Given the description of an element on the screen output the (x, y) to click on. 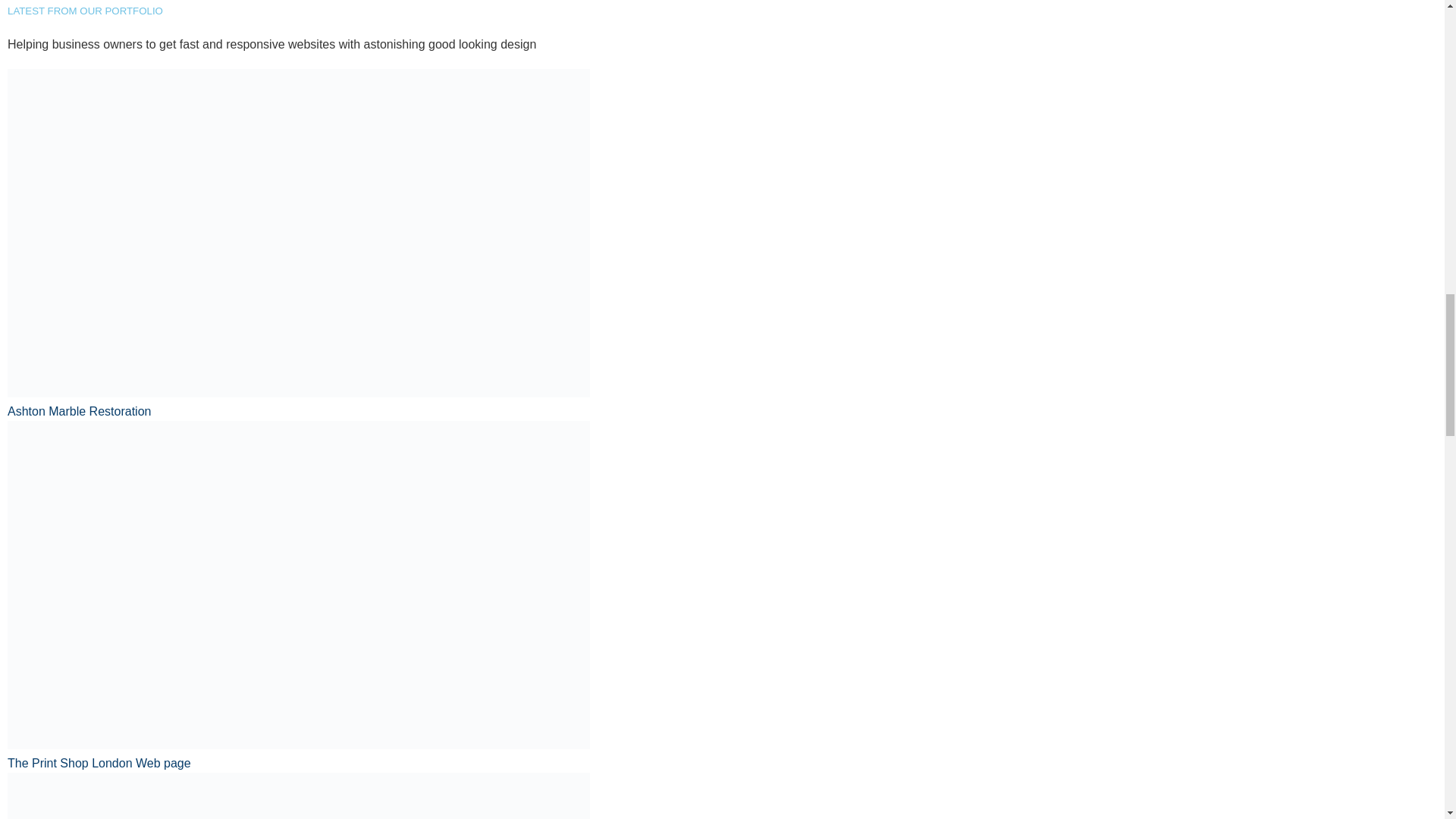
St Pauls Sinfonia Website Creation (722, 796)
